Given the description of an element on the screen output the (x, y) to click on. 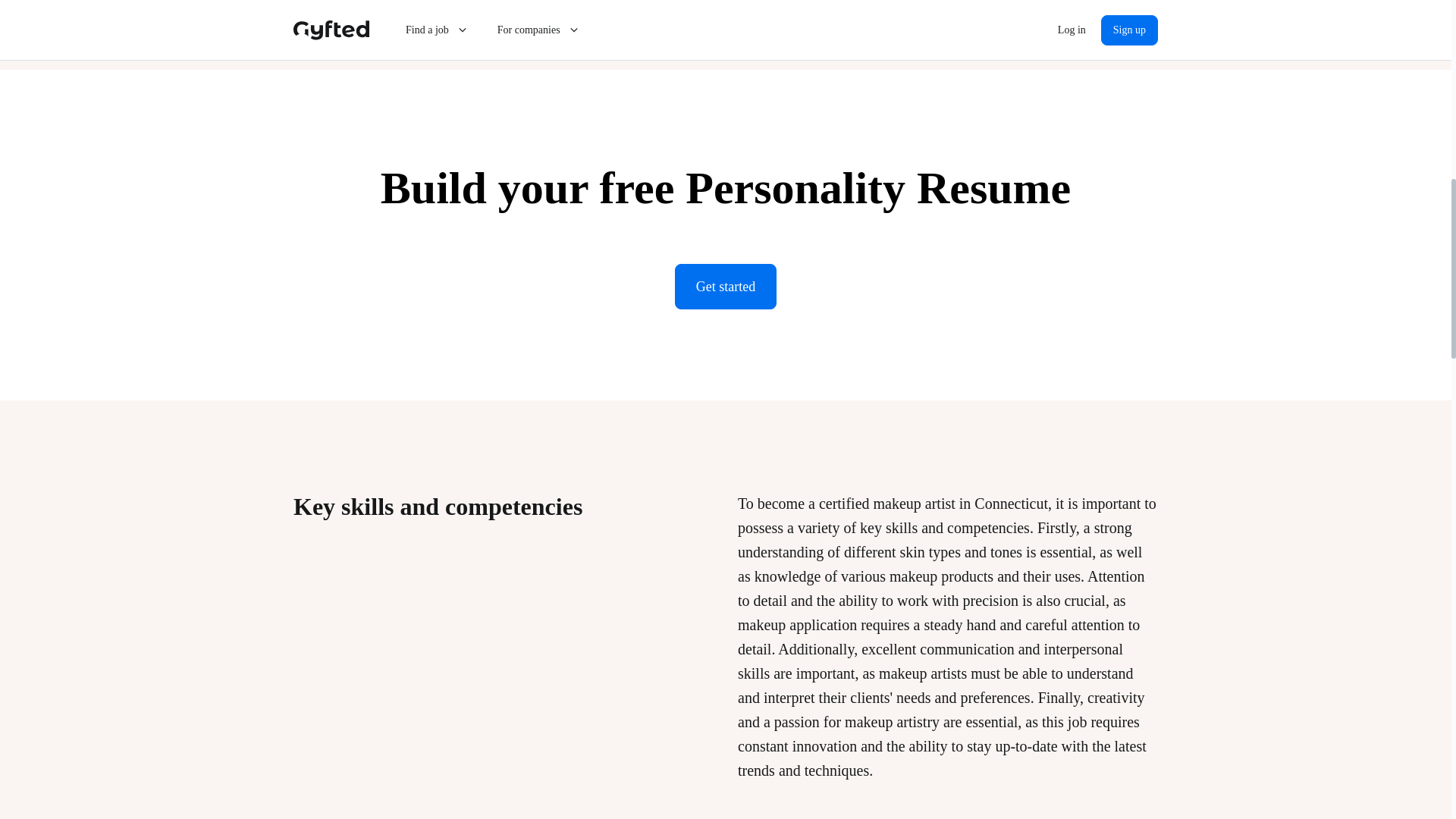
Get started (725, 286)
